Given the description of an element on the screen output the (x, y) to click on. 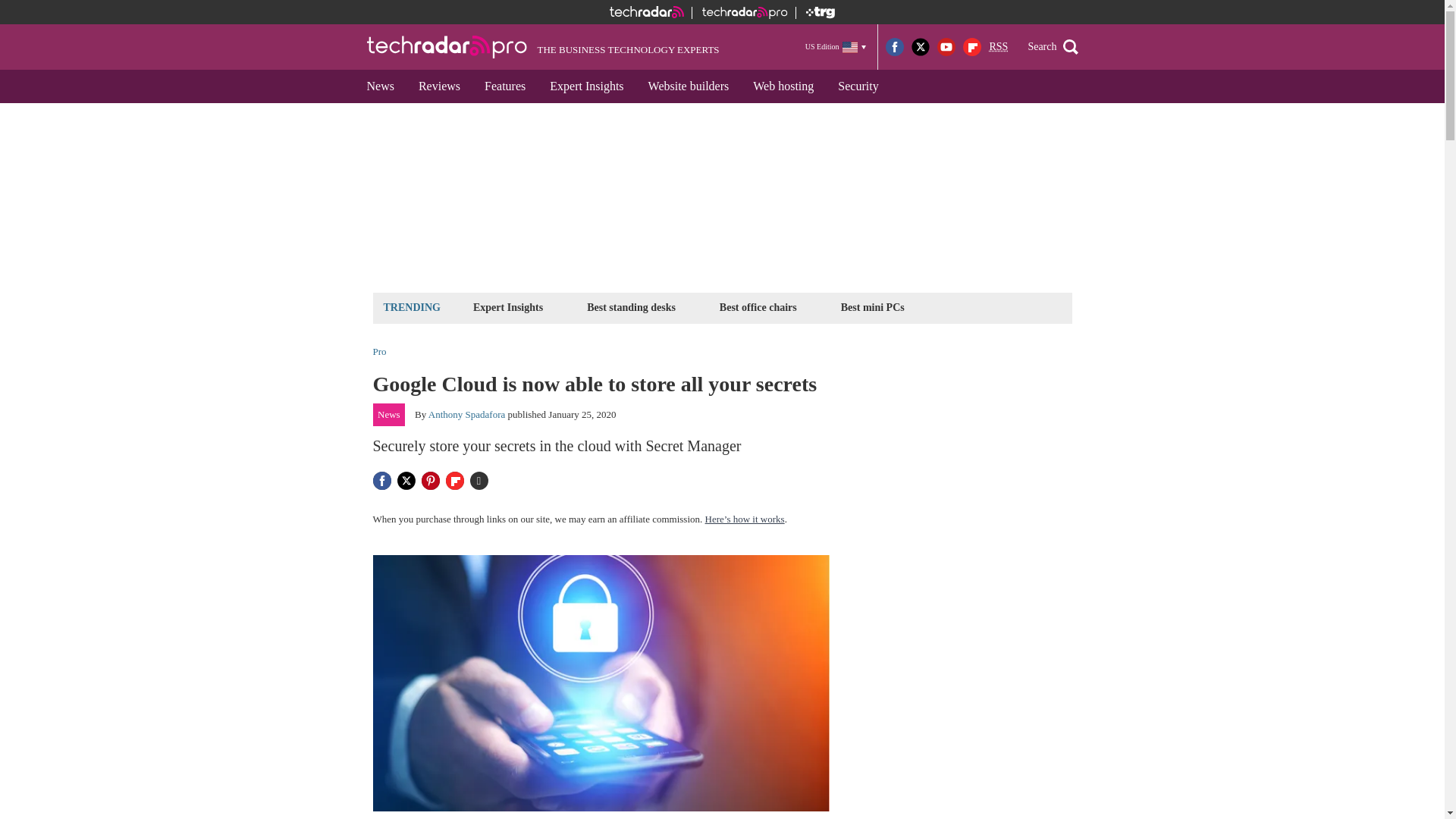
Security (857, 86)
Features (504, 86)
Website builders (688, 86)
US Edition (836, 46)
RSS (997, 46)
Expert Insights (585, 86)
Best office chairs (758, 307)
Expert Insights (507, 307)
Really Simple Syndication (997, 46)
THE BUSINESS TECHNOLOGY EXPERTS (542, 46)
